Given the description of an element on the screen output the (x, y) to click on. 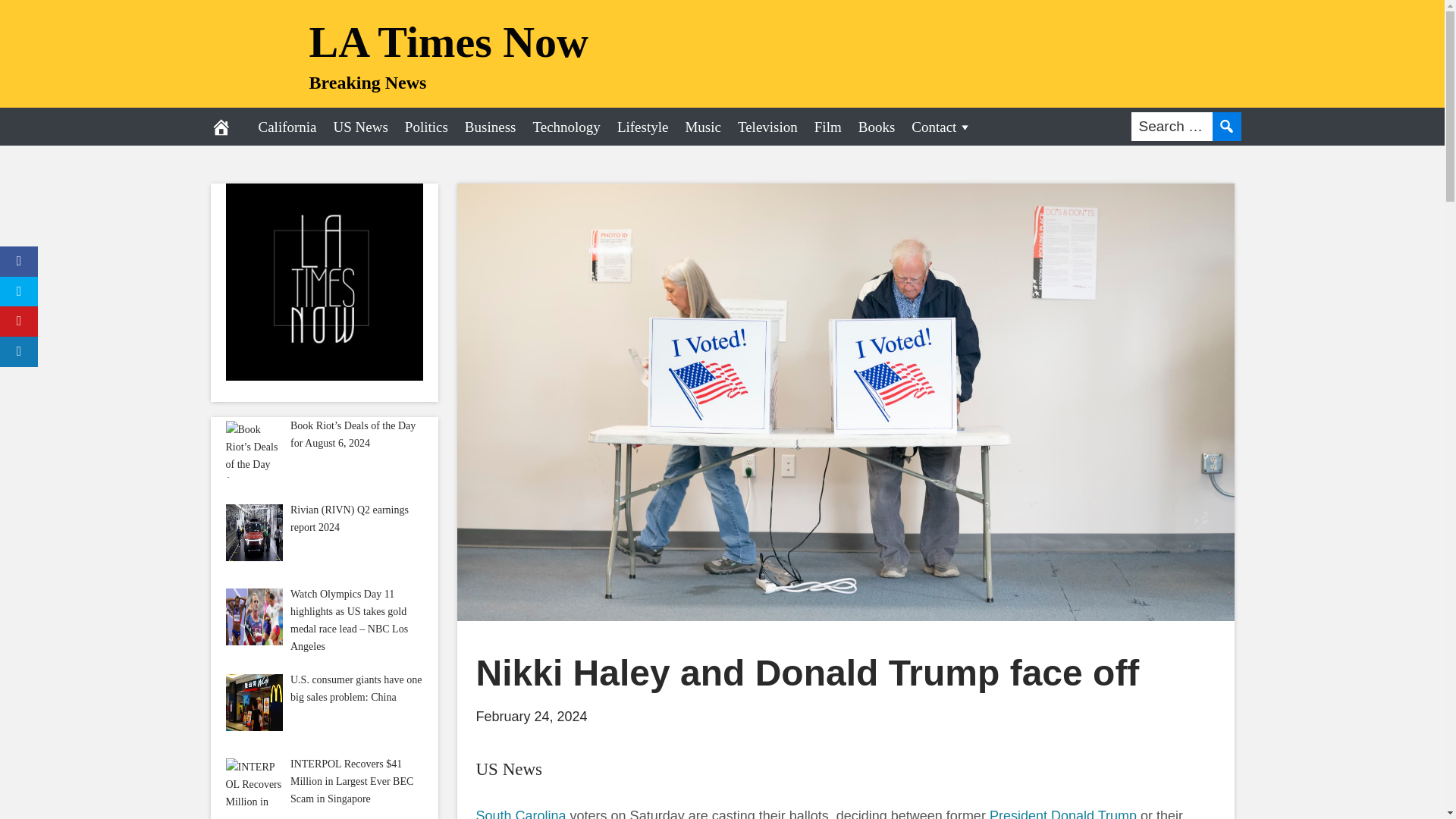
Lifestyle (642, 126)
Contact (940, 126)
Music (703, 126)
Television (767, 126)
LA Times Now (448, 41)
US News (509, 769)
California (287, 126)
U.S. consumer giants have one big sales problem: China (253, 702)
Technology (566, 126)
